Given the description of an element on the screen output the (x, y) to click on. 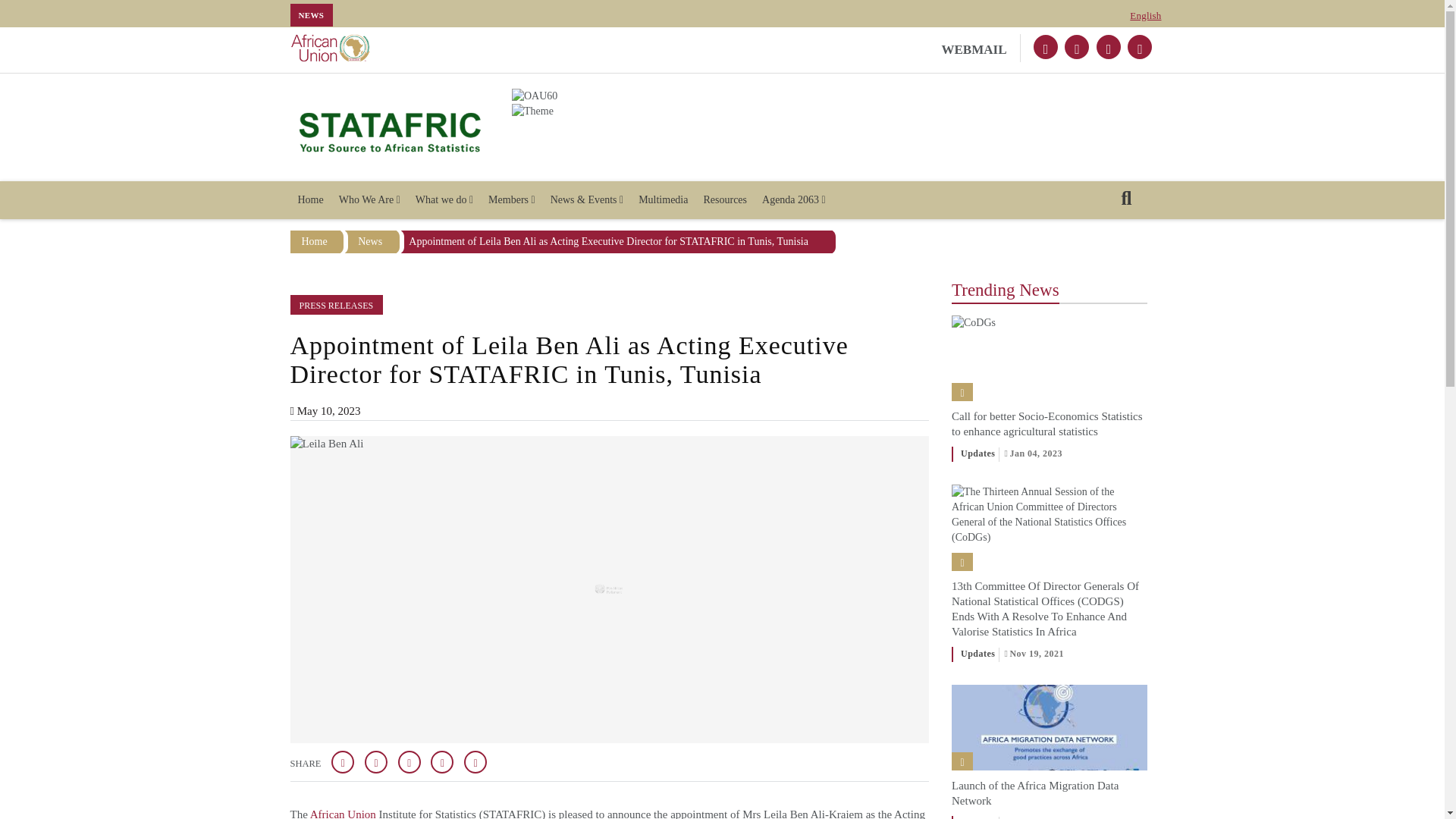
WEBMAIL (982, 48)
Youtube (1108, 46)
Facebook (1076, 46)
Twitter (1045, 46)
Youtube (1138, 46)
Home (389, 130)
Home (309, 199)
English (1144, 15)
Who We Are (369, 199)
